Given the description of an element on the screen output the (x, y) to click on. 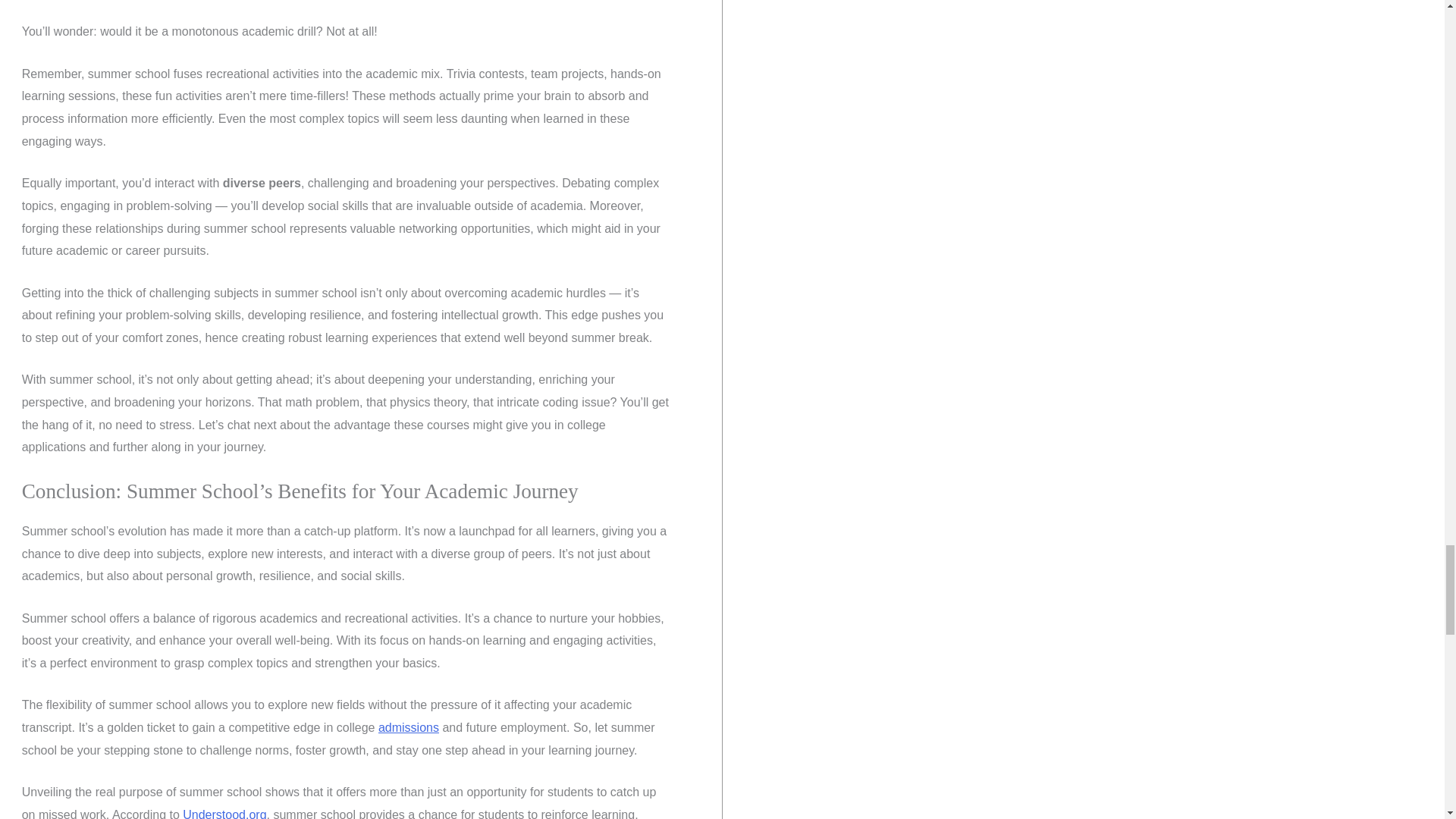
ARD in Special Education (408, 727)
